Given the description of an element on the screen output the (x, y) to click on. 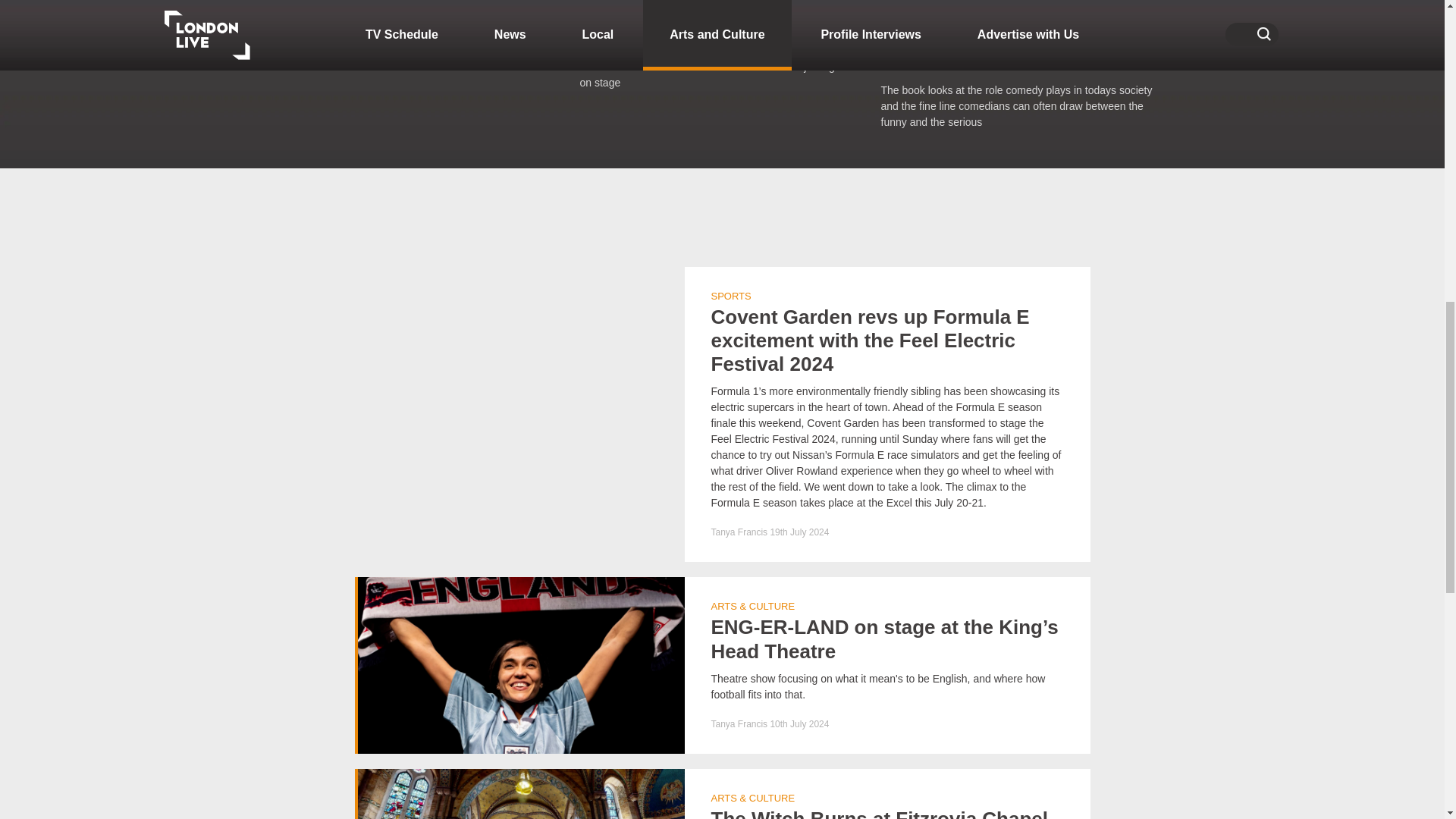
Read more (421, 33)
Read more (722, 794)
Read more (1023, 65)
Read more (135, 41)
Read more (722, 664)
Read more (722, 45)
